Given the description of an element on the screen output the (x, y) to click on. 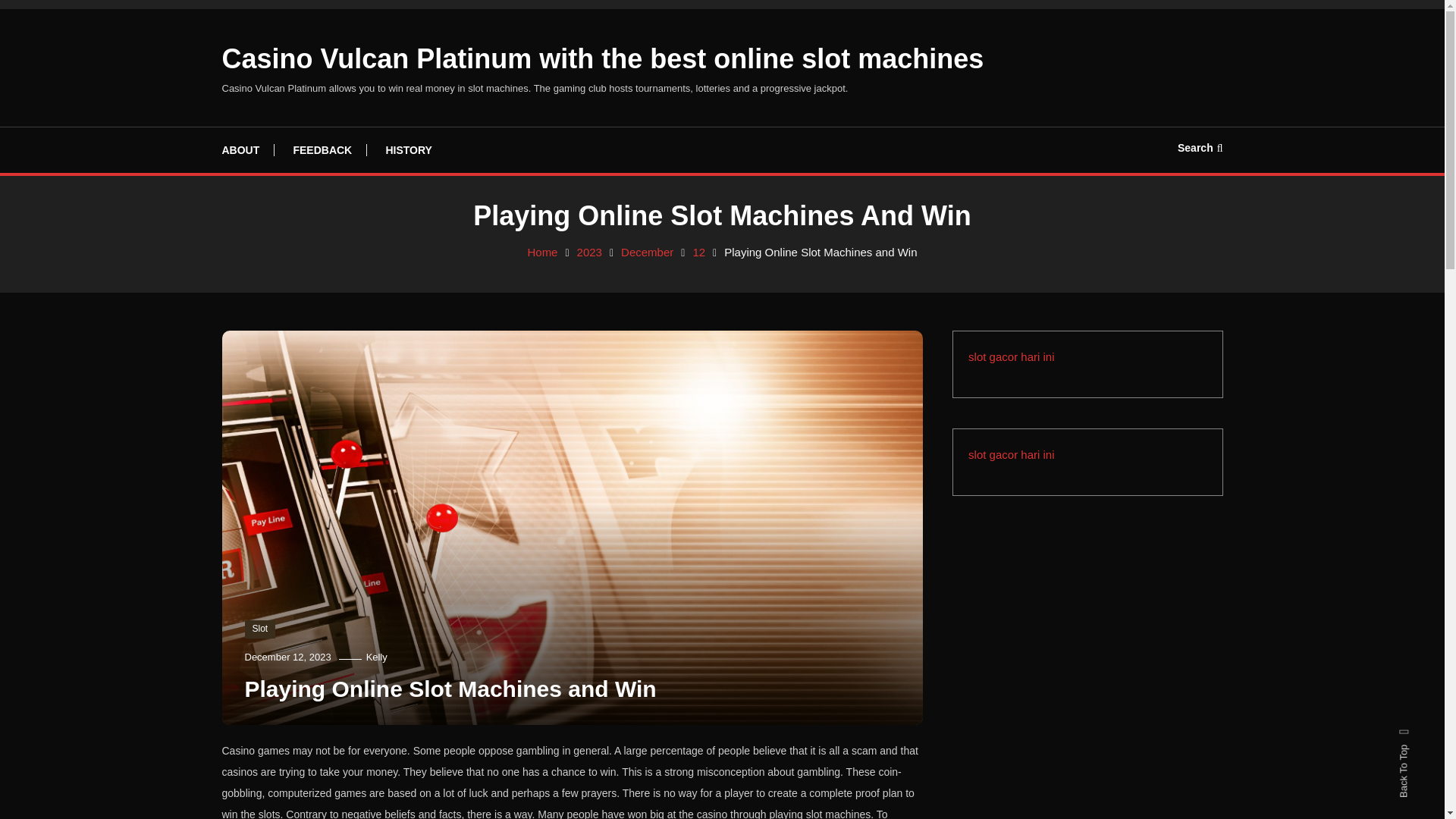
slot gacor hari ini (1011, 356)
Kelly (376, 656)
Home (542, 251)
Search (1200, 147)
Slot (259, 628)
2023 (589, 251)
12 (698, 251)
Playing Online Slot Machines and Win (450, 688)
HISTORY (407, 149)
Casino Vulcan Platinum with the best online slot machines (602, 58)
December (646, 251)
ABOUT (248, 149)
slot gacor hari ini (1011, 454)
FEEDBACK (322, 149)
December 12, 2023 (287, 656)
